Given the description of an element on the screen output the (x, y) to click on. 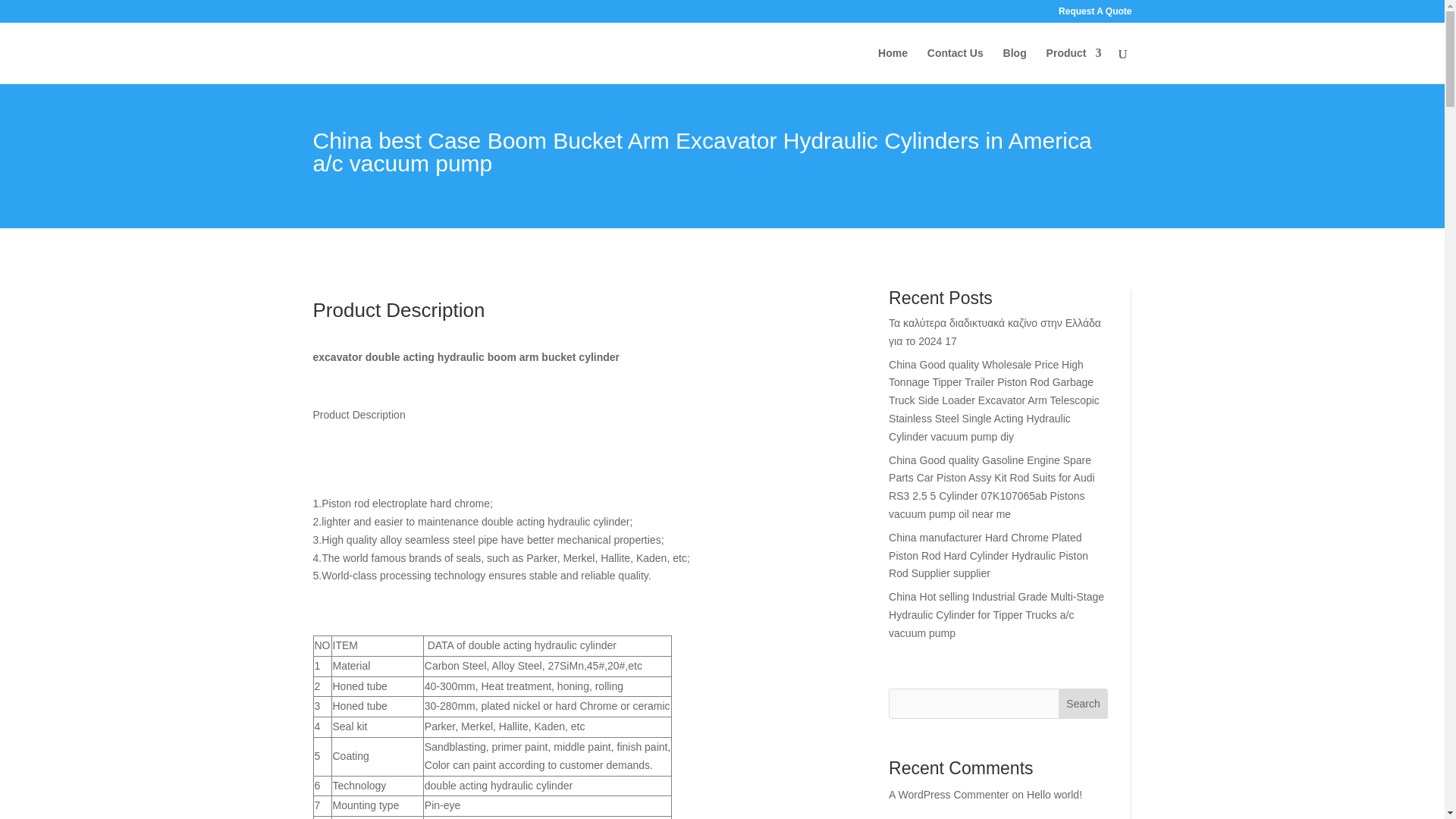
A WordPress Commenter (948, 794)
Hello world! (1053, 794)
Request A Quote (1094, 14)
Product (1074, 65)
Search (1083, 703)
Contact Us (955, 65)
